Given the description of an element on the screen output the (x, y) to click on. 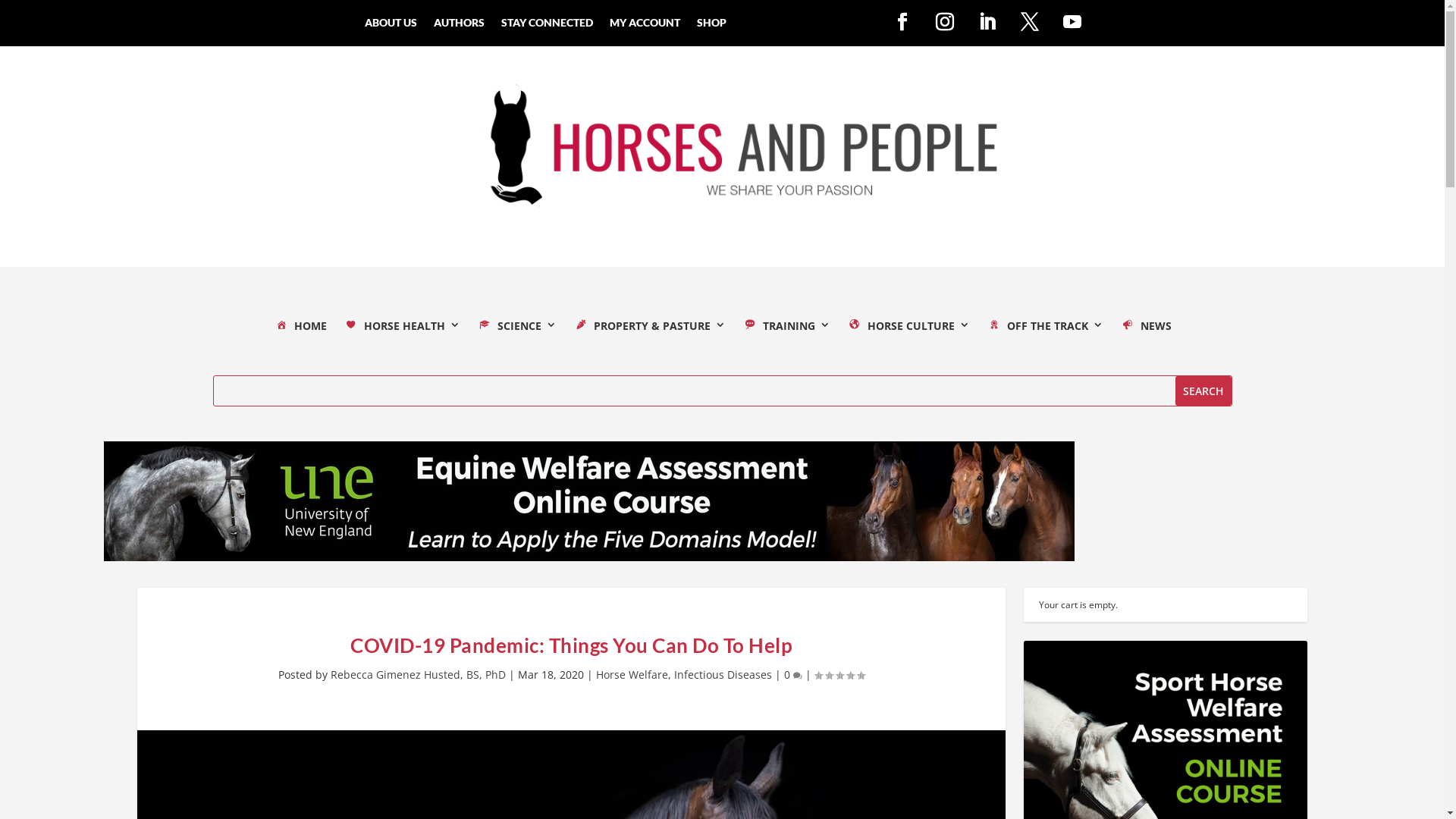
Follow on Youtube Element type: hover (1072, 21)
Horse Welfare Element type: text (632, 674)
Follow on Facebook Element type: hover (902, 21)
MY ACCOUNT Element type: text (644, 25)
AUTHORS Element type: text (458, 25)
Infectious Diseases Element type: text (722, 674)
OFF THE TRACK Element type: text (1043, 329)
Website-Logo-1 Element type: hover (721, 156)
SCIENCE Element type: text (515, 329)
ABOUT US Element type: text (390, 25)
Follow on LinkedIn Element type: hover (987, 21)
NEWS Element type: text (1144, 329)
0 Element type: text (793, 674)
TRAINING Element type: text (785, 329)
Follow on X Element type: hover (1029, 21)
Search Element type: text (1203, 390)
HORSE HEALTH Element type: text (400, 329)
HOME Element type: text (299, 329)
STAY CONNECTED Element type: text (547, 25)
Rebecca Gimenez Husted, BS, PhD Element type: text (417, 674)
Rating: 0.00 Element type: hover (839, 674)
HORSE CULTURE Element type: text (907, 329)
Follow on Instagram Element type: hover (944, 21)
comment count Element type: hover (797, 675)
PROPERTY & PASTURE Element type: text (649, 329)
SHOP Element type: text (711, 25)
